Given the description of an element on the screen output the (x, y) to click on. 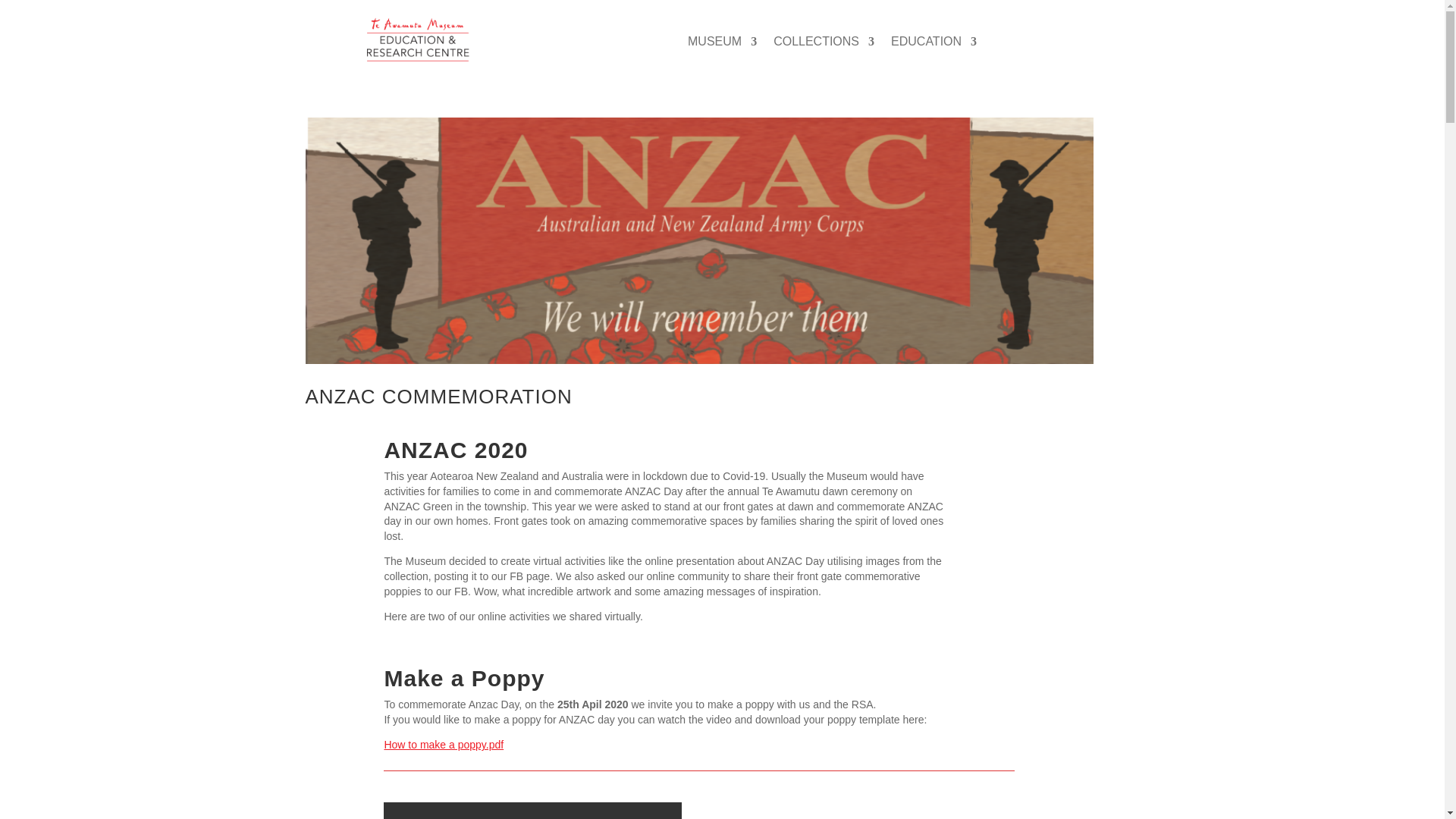
TAMERC logo no back (417, 40)
EDUCATION (933, 44)
ANZAC COMMEMORATION (438, 395)
COLLECTIONS (824, 44)
MUSEUM (722, 44)
Stand At Dawn Activities (865, 810)
How to make a poppy.pdf (443, 744)
